Given the description of an element on the screen output the (x, y) to click on. 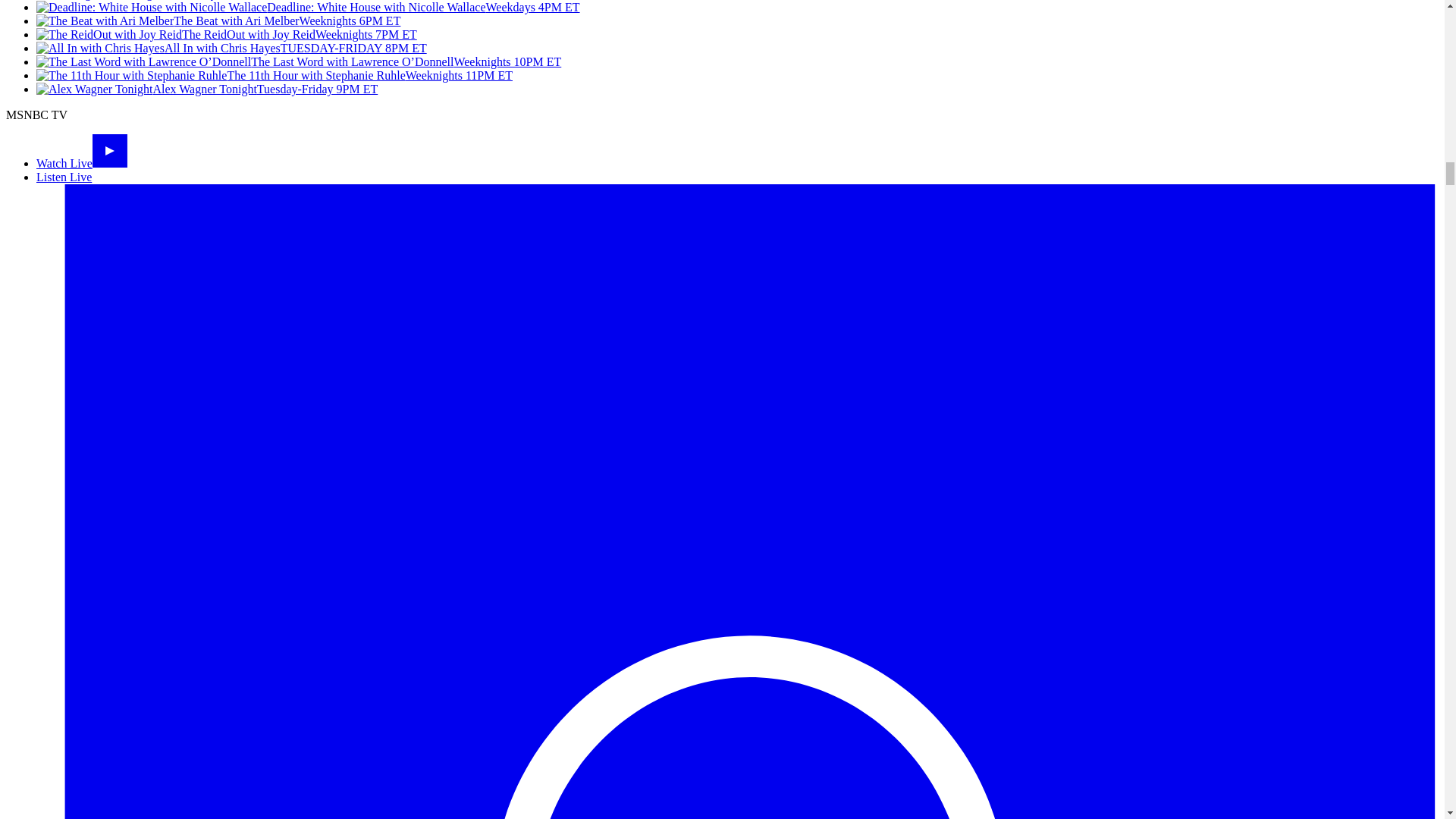
Watch Live (82, 163)
The Beat with Ari MelberWeeknights 6PM ET (218, 20)
All In with Chris HayesTUESDAY-FRIDAY 8PM ET (231, 47)
The ReidOut with Joy ReidWeeknights 7PM ET (226, 33)
Alex Wagner TonightTuesday-Friday 9PM ET (206, 88)
The 11th Hour with Stephanie RuhleWeeknights 11PM ET (274, 74)
Deadline: White House with Nicolle WallaceWeekdays 4PM ET (307, 6)
